Given the description of an element on the screen output the (x, y) to click on. 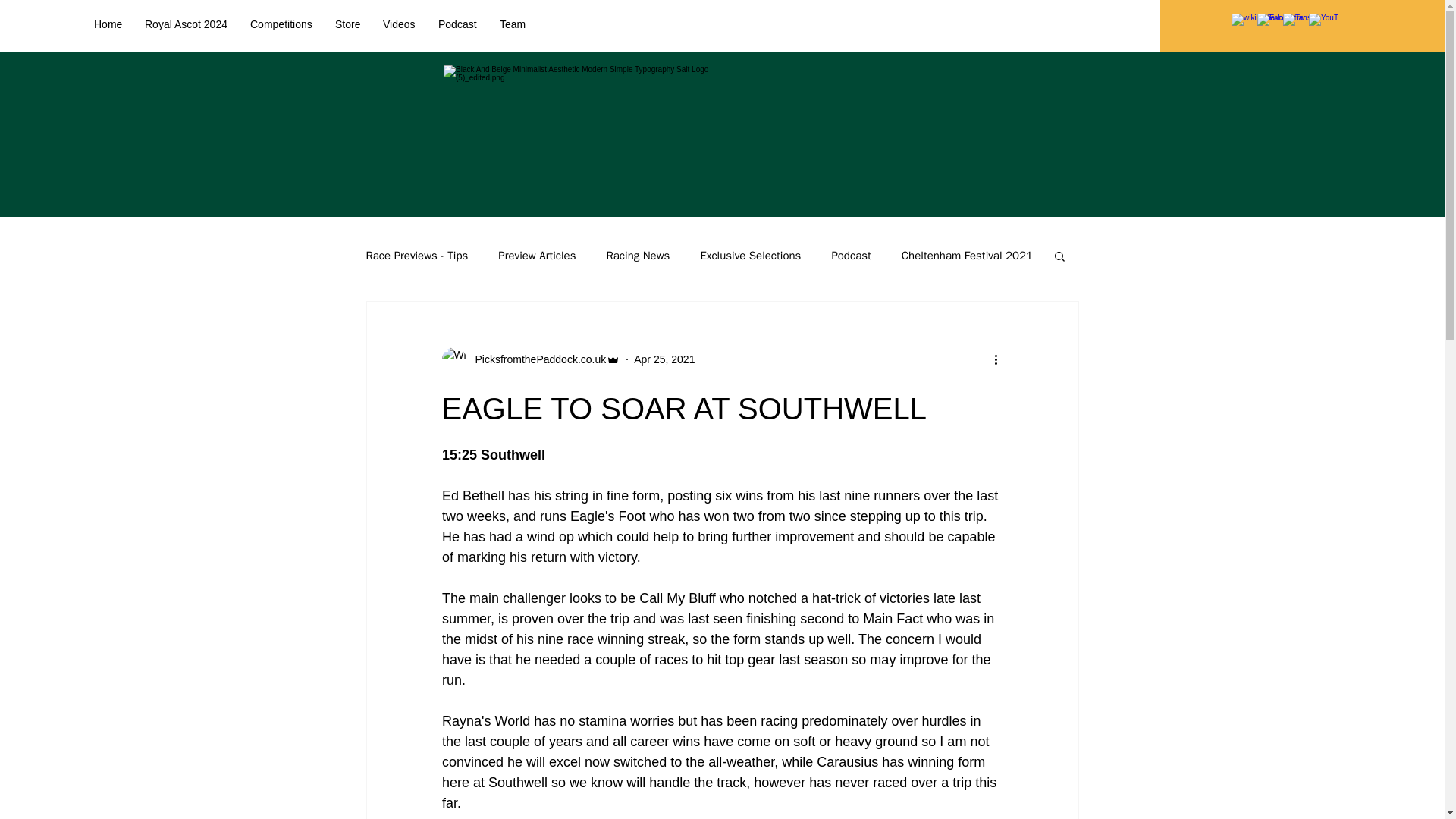
Exclusive Selections (750, 255)
Competitions (280, 24)
Race Previews - Tips (416, 255)
Cheltenham Festival 2021 (966, 255)
Apr 25, 2021 (663, 358)
PicksfromthePaddock.co.uk (535, 359)
Royal Ascot 2024 (185, 24)
Preview Articles (536, 255)
Home (107, 24)
Racing News (637, 255)
